Given the description of an element on the screen output the (x, y) to click on. 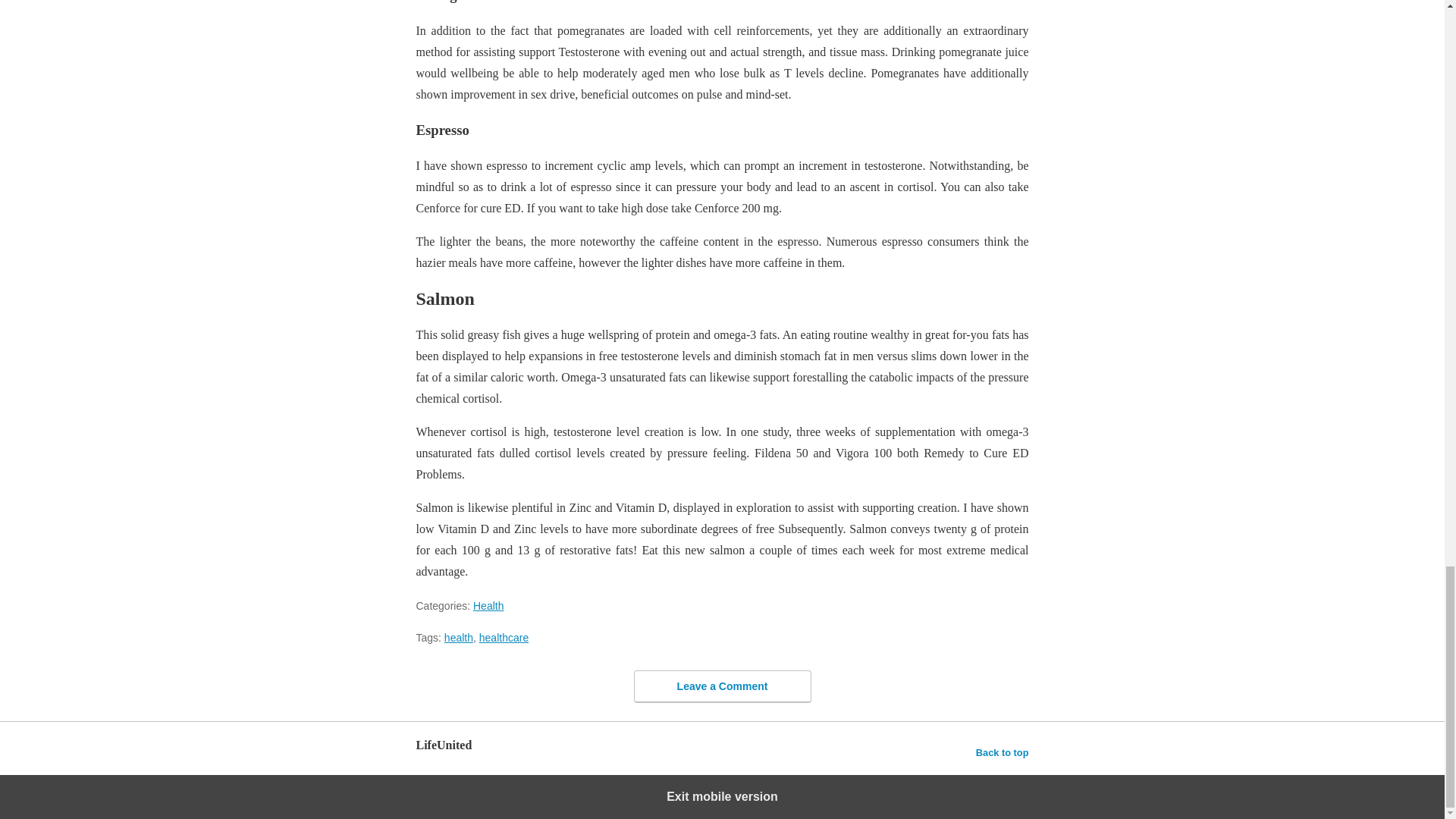
Health (488, 605)
healthcare (503, 637)
Back to top (1002, 752)
health (458, 637)
Leave a Comment (721, 686)
